Given the description of an element on the screen output the (x, y) to click on. 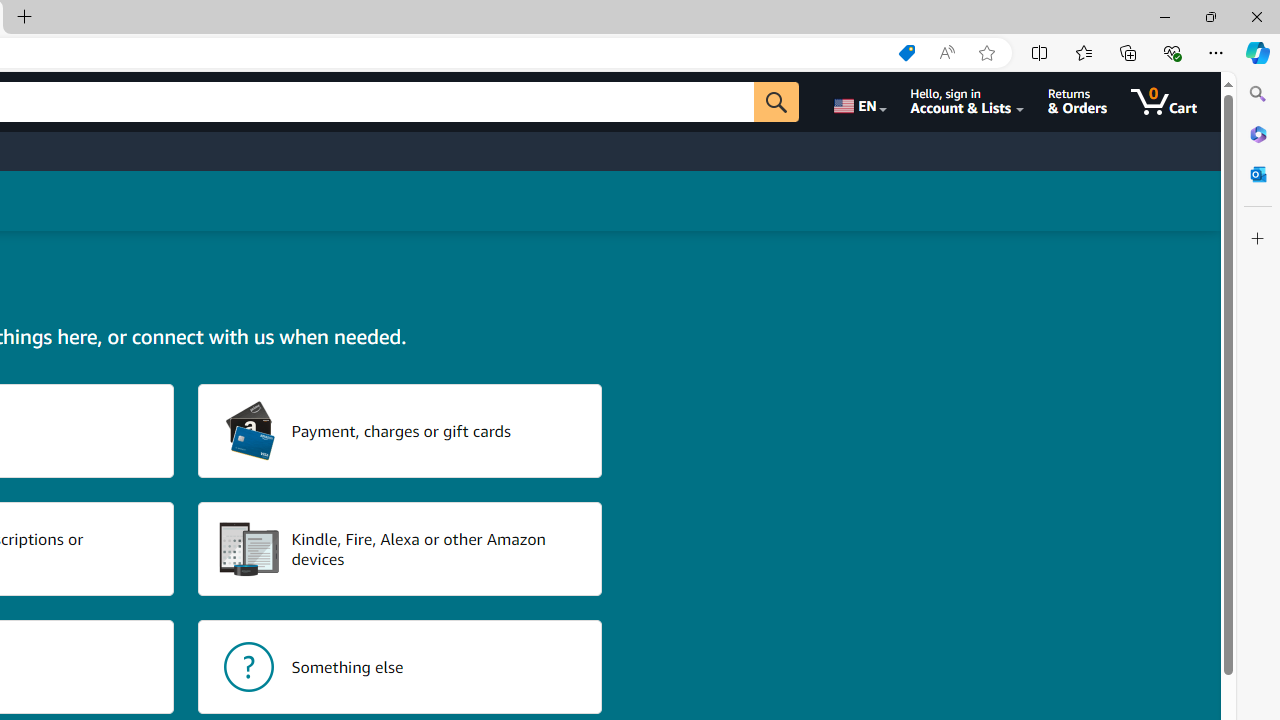
Payment, charges or gift cards (400, 430)
Go (776, 101)
Close Outlook pane (1258, 174)
Choose a language for shopping. (858, 101)
0 items in cart (1163, 101)
Hello, sign in Account & Lists (967, 101)
